Given the description of an element on the screen output the (x, y) to click on. 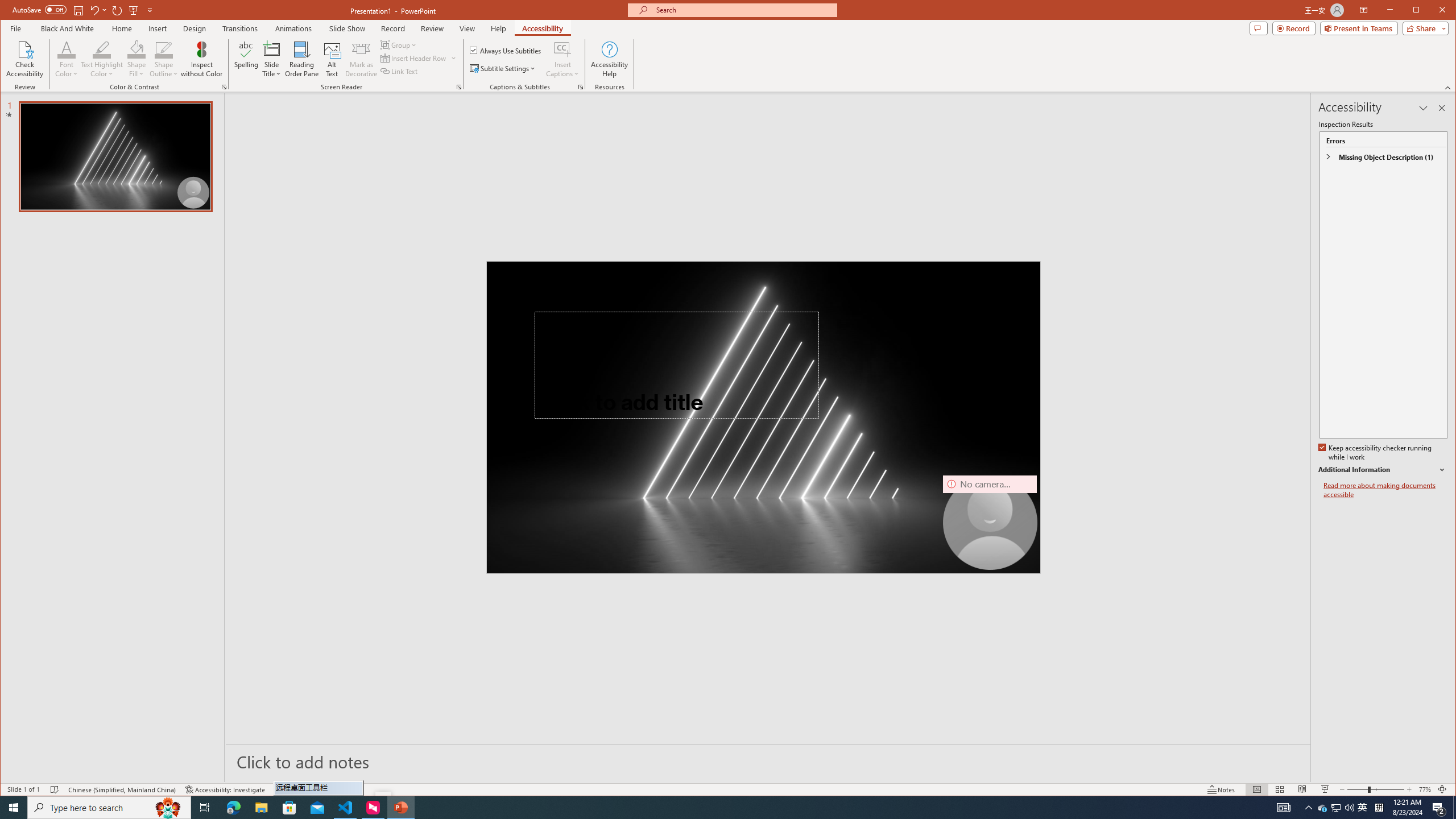
Black And White (67, 28)
Mark as Decorative (360, 59)
Subtitle Settings (502, 68)
